Given the description of an element on the screen output the (x, y) to click on. 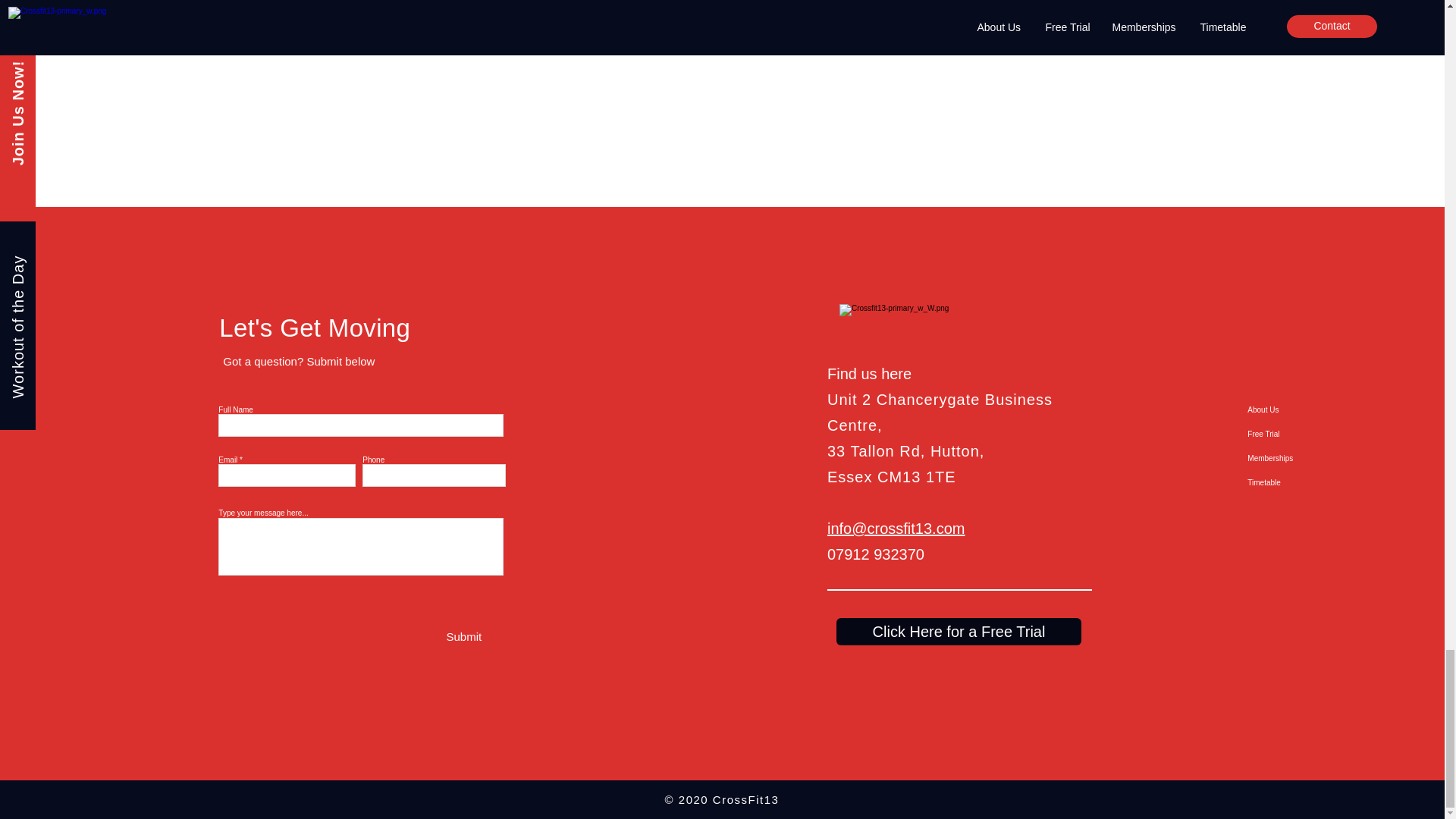
Timetable (1294, 482)
Memberships (1294, 458)
Submit (463, 636)
Click Here for a Free Trial (958, 631)
About Us (1294, 410)
Free Trial (1294, 434)
